Given the description of an element on the screen output the (x, y) to click on. 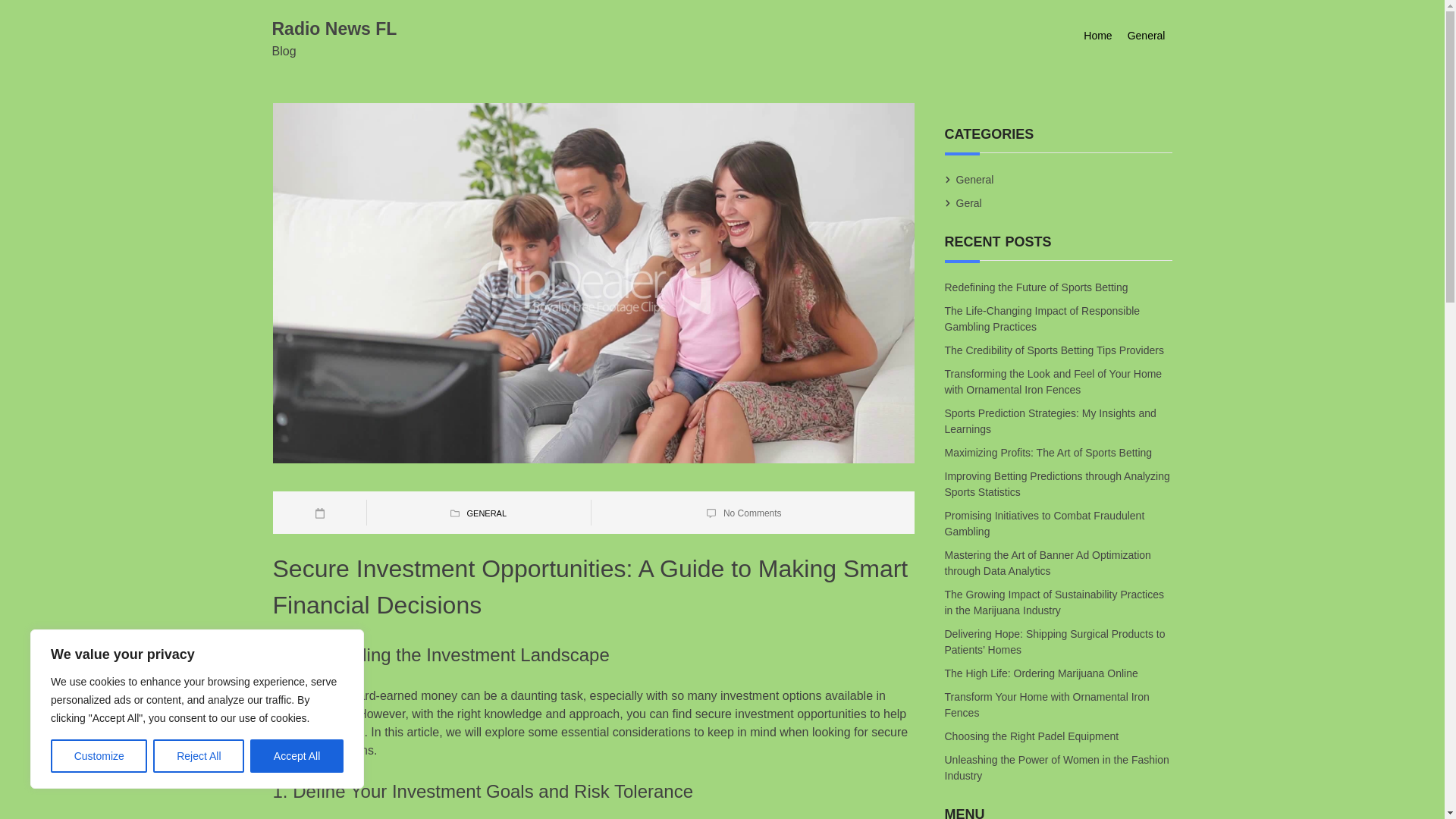
The Credibility of Sports Betting Tips Providers (1055, 350)
Maximizing Profits: The Art of Sports Betting (1049, 452)
General (974, 179)
Customize (98, 756)
Accept All (296, 756)
Redefining the Future of Sports Betting (1036, 287)
Radio News FL (333, 28)
Reject All (198, 756)
Sports Prediction Strategies: My Insights and Learnings (1050, 421)
Home (1097, 35)
Geral (968, 203)
General (1146, 35)
The Life-Changing Impact of Responsible Gambling Practices (1042, 319)
No Comments (752, 512)
